Given the description of an element on the screen output the (x, y) to click on. 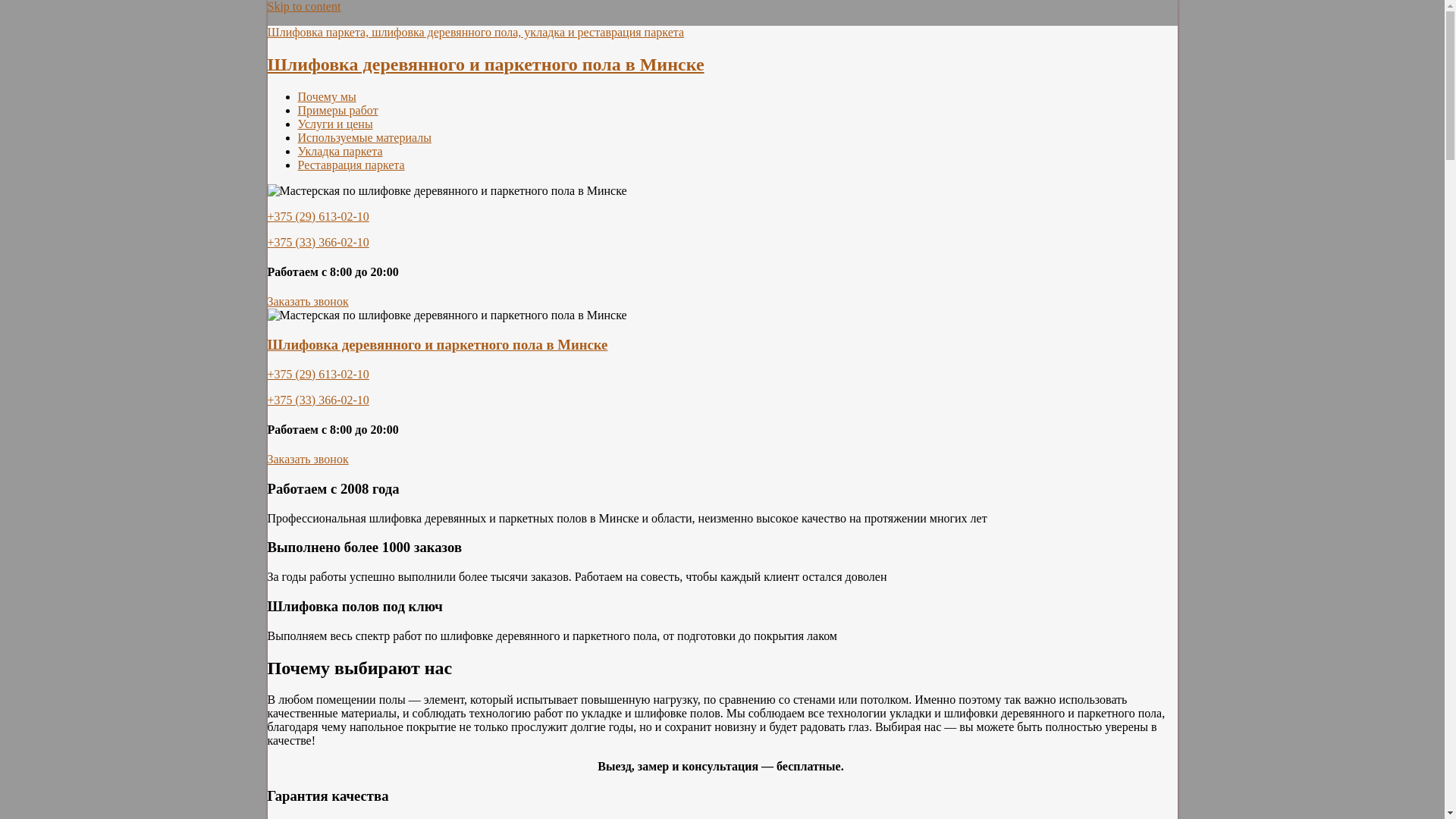
+375 (29) 613-02-10 Element type: text (317, 373)
Skip to content Element type: text (303, 6)
+375 (33) 366-02-10 Element type: text (317, 241)
+375 (29) 613-02-10 Element type: text (317, 216)
+375 (33) 366-02-10 Element type: text (317, 399)
